Given the description of an element on the screen output the (x, y) to click on. 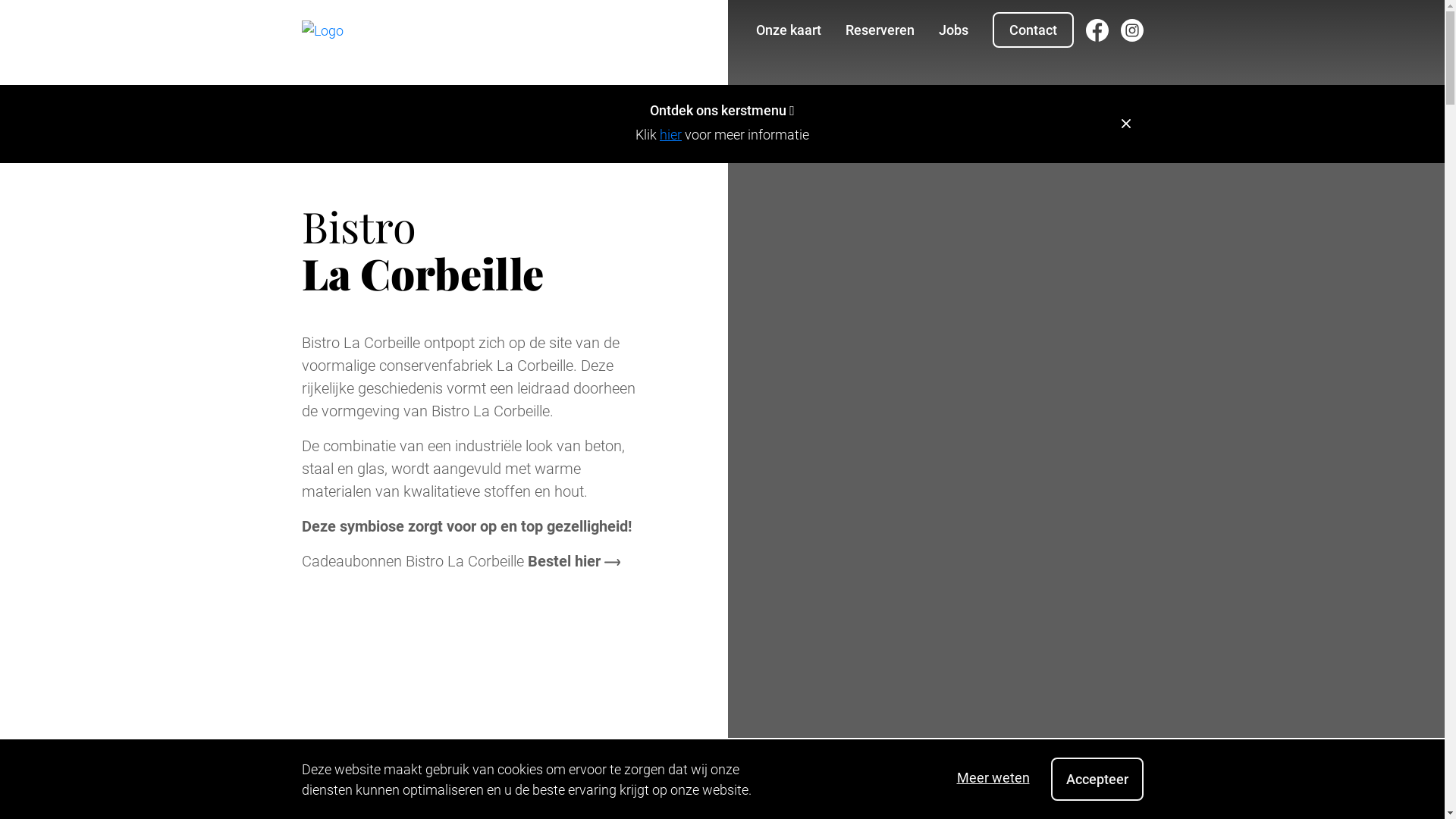
Contact Element type: text (1032, 29)
Onze kaart Element type: text (787, 29)
hier Element type: text (670, 134)
Bestel hier Element type: text (573, 561)
Home Element type: hover (322, 29)
Meer weten Element type: text (993, 777)
Reserveren Element type: text (878, 29)
Jobs Element type: text (953, 29)
